Given the description of an element on the screen output the (x, y) to click on. 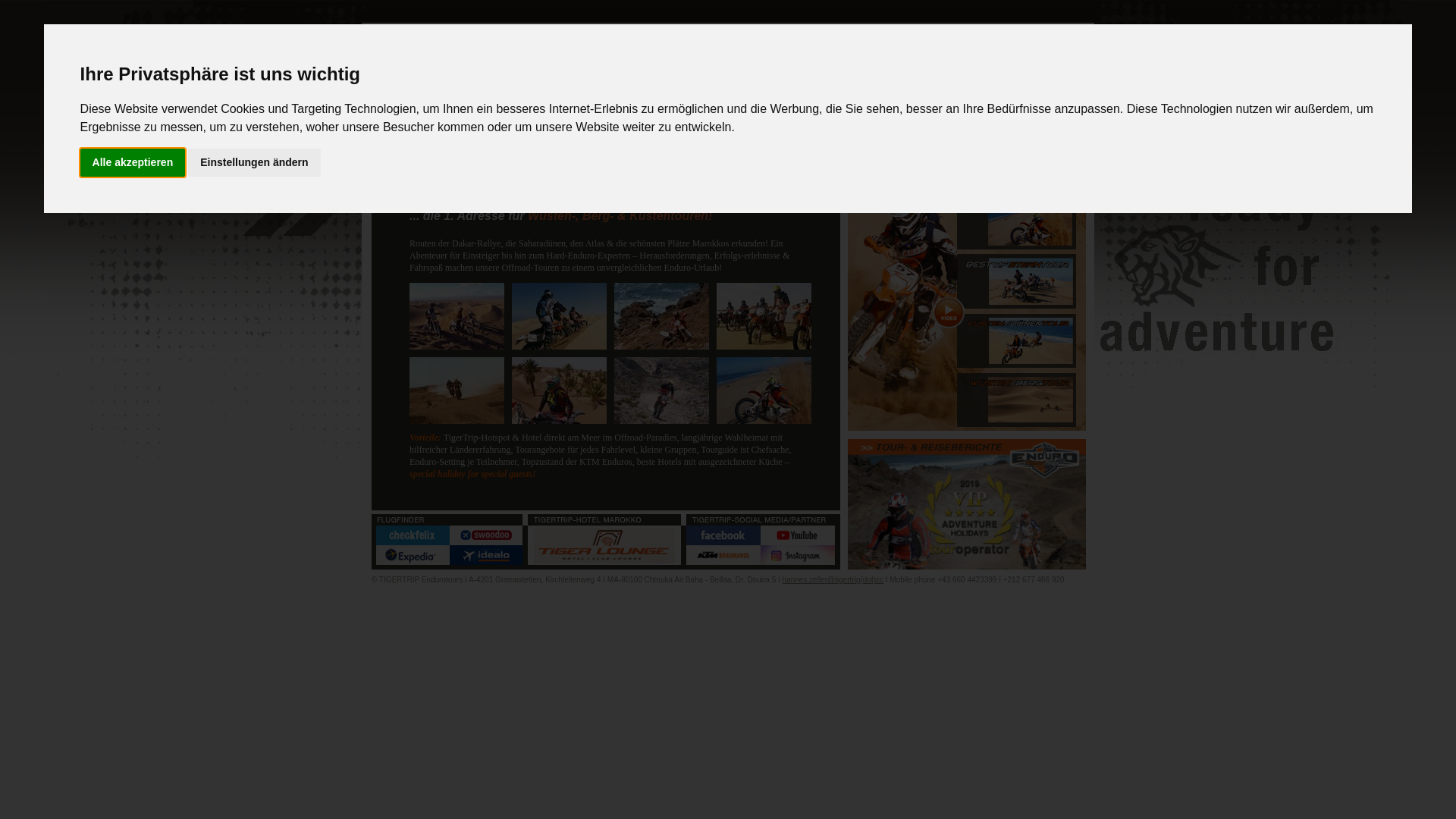
TERMINE/BUCHEN Element type: text (785, 153)
NEWS Element type: text (430, 153)
KONTAKT Element type: text (1021, 153)
hannes.zeller@tigertrip(dot)cc Element type: text (833, 579)
Alle akzeptieren Element type: text (132, 162)
TOUREN & INFOS Element type: text (666, 153)
TOUR FOTOS Element type: text (903, 153)
